Given the description of an element on the screen output the (x, y) to click on. 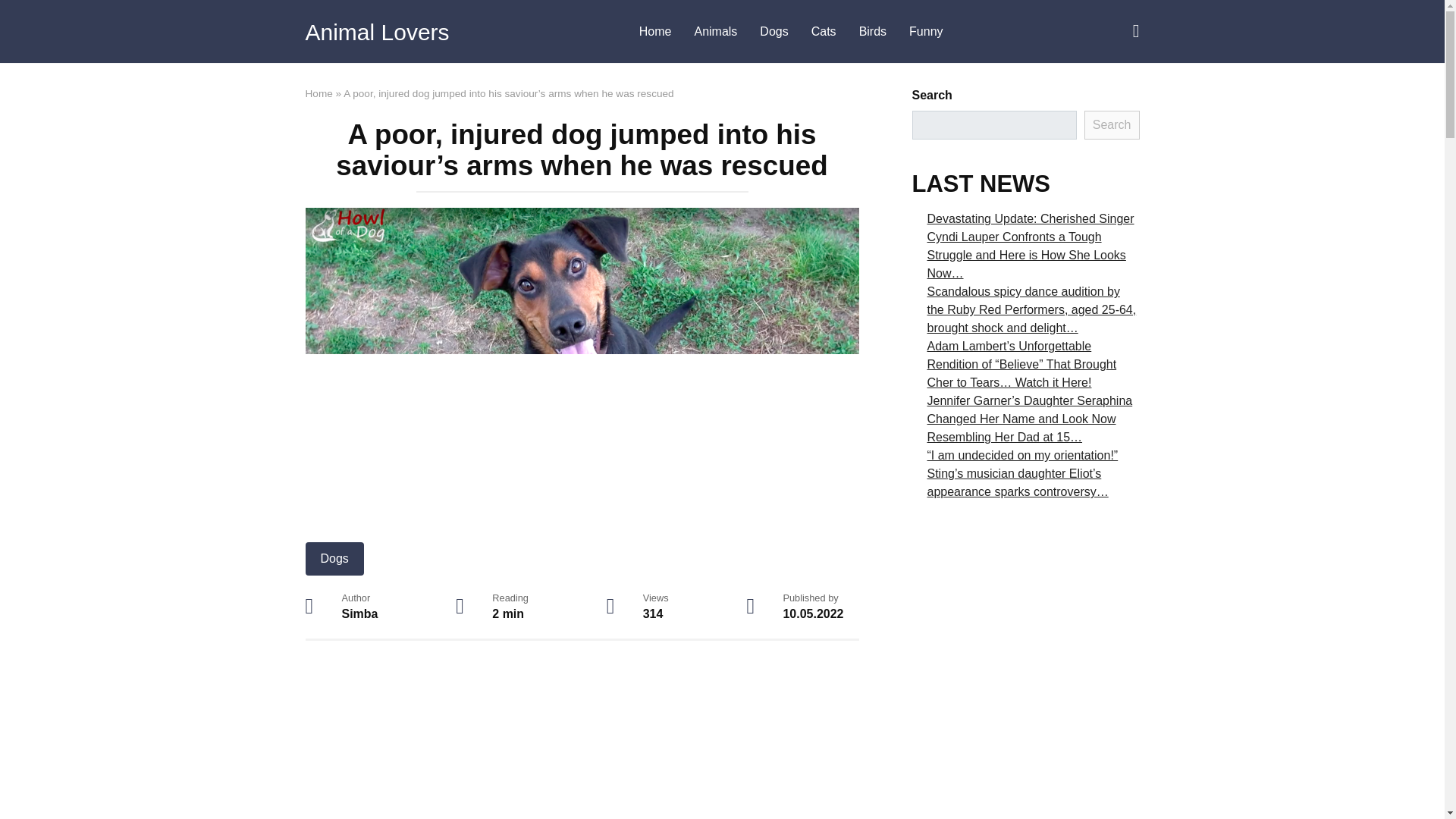
Dogs (333, 558)
Funny (925, 31)
Home (317, 93)
Search (1112, 124)
Birds (872, 31)
Dogs (773, 31)
Animal Lovers (376, 32)
Cats (823, 31)
Home (654, 31)
Animals (715, 31)
